Given the description of an element on the screen output the (x, y) to click on. 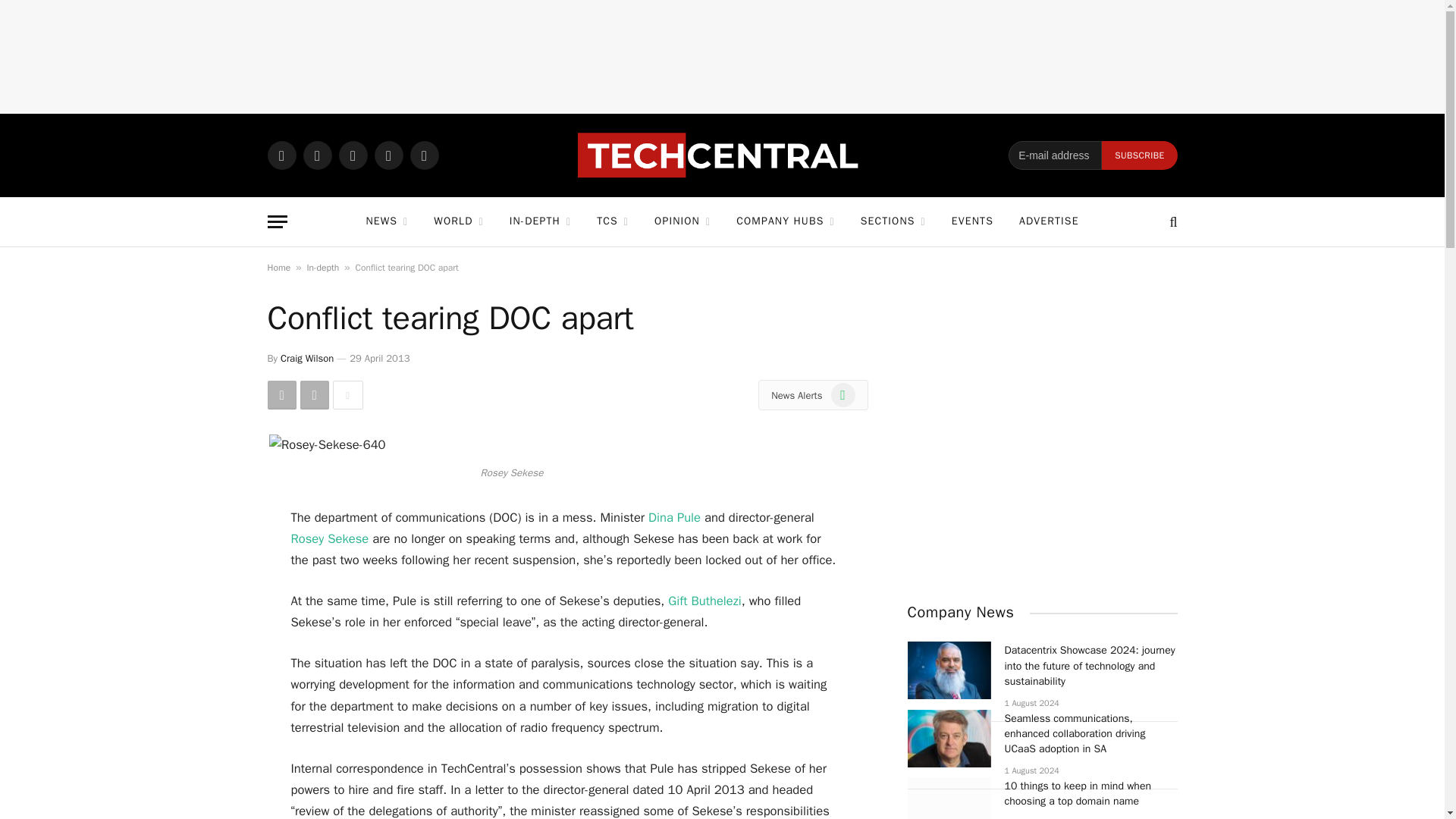
LinkedIn (388, 154)
IN-DEPTH (539, 221)
WhatsApp (280, 154)
Subscribe (1139, 154)
3rd party ad content (722, 56)
Subscribe (1139, 154)
WORLD (458, 221)
NEWS (386, 221)
TechCentral (722, 155)
Facebook (316, 154)
YouTube (423, 154)
